Given the description of an element on the screen output the (x, y) to click on. 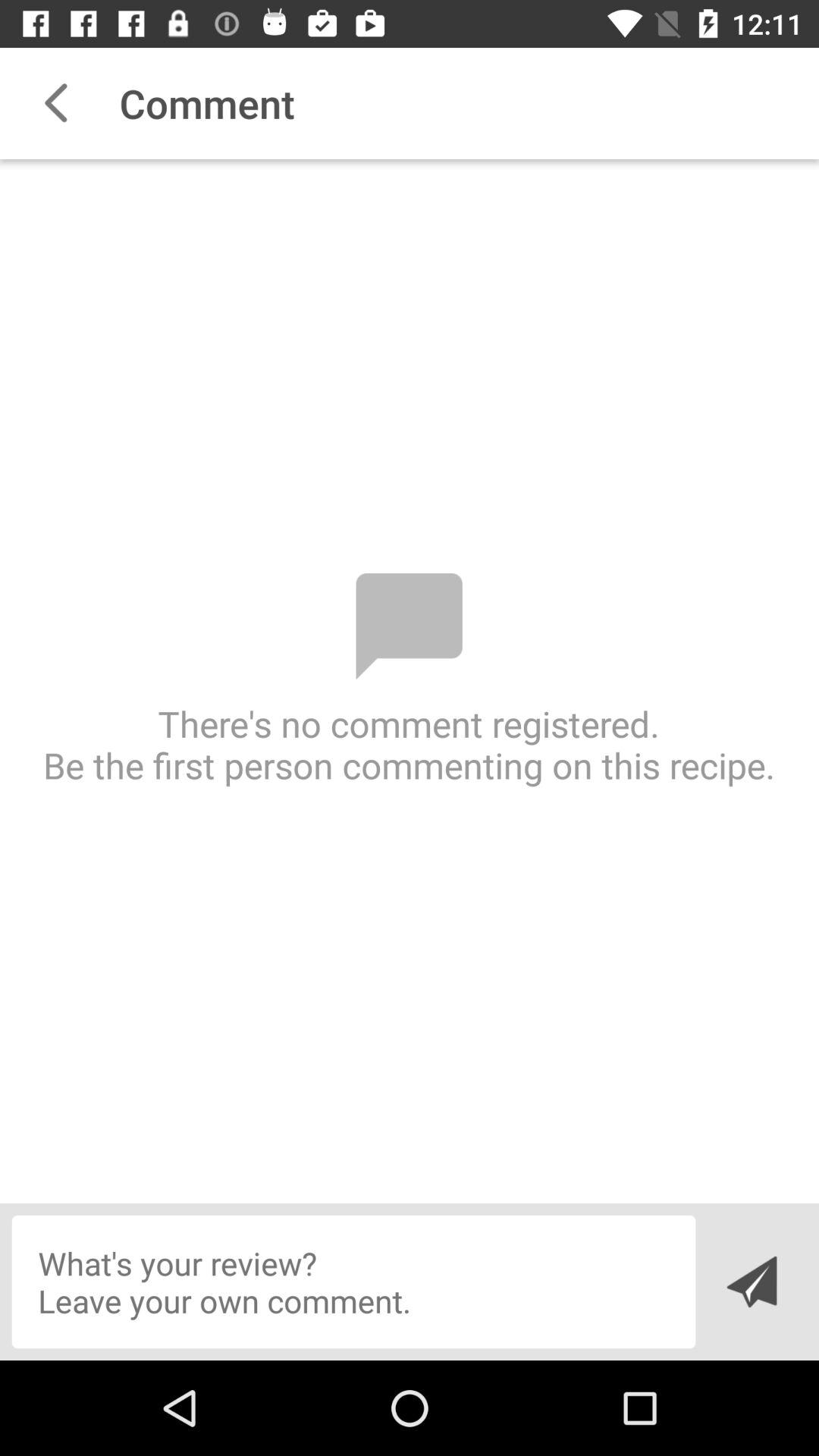
send button (751, 1281)
